Given the description of an element on the screen output the (x, y) to click on. 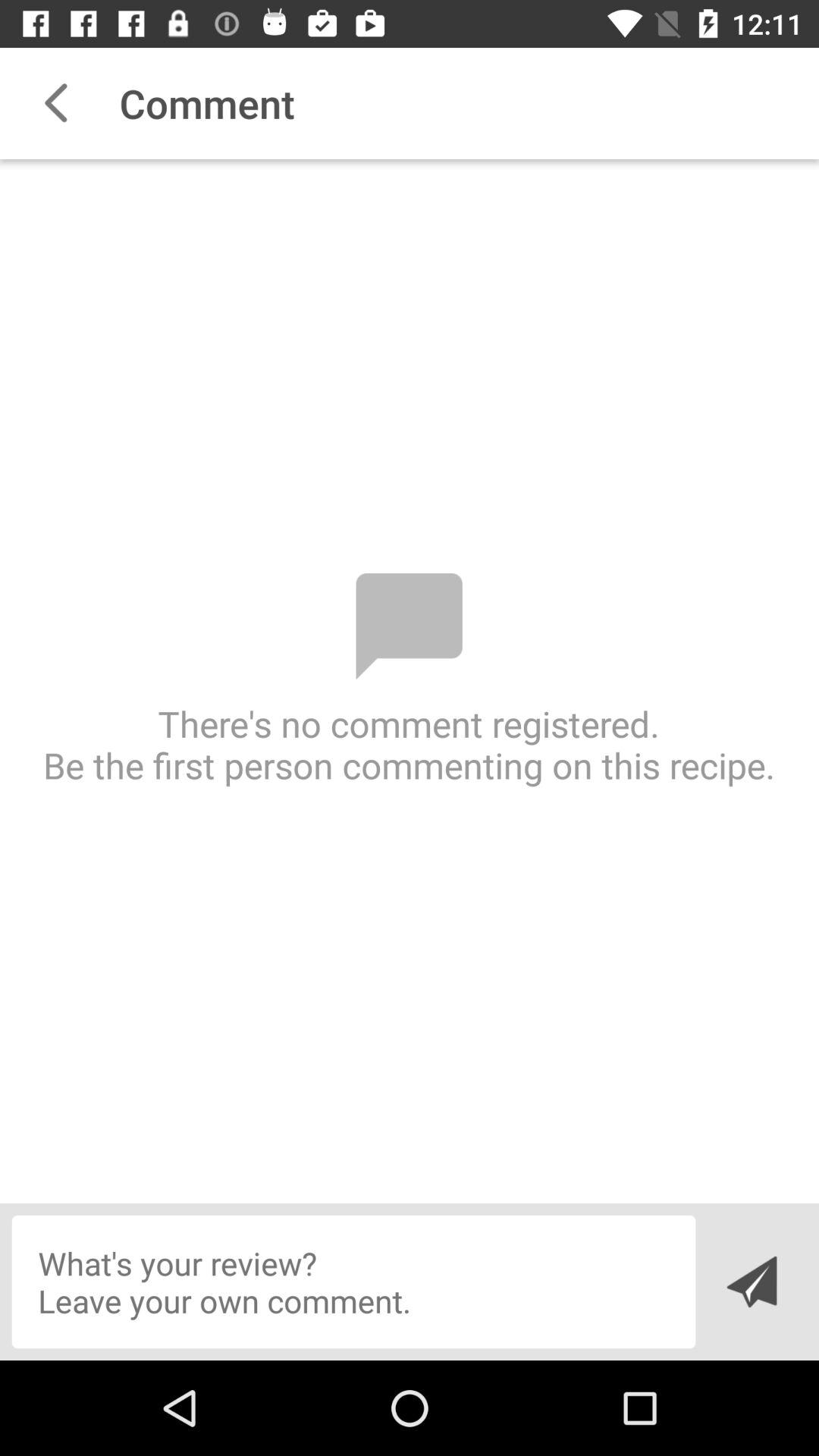
send button (751, 1281)
